Given the description of an element on the screen output the (x, y) to click on. 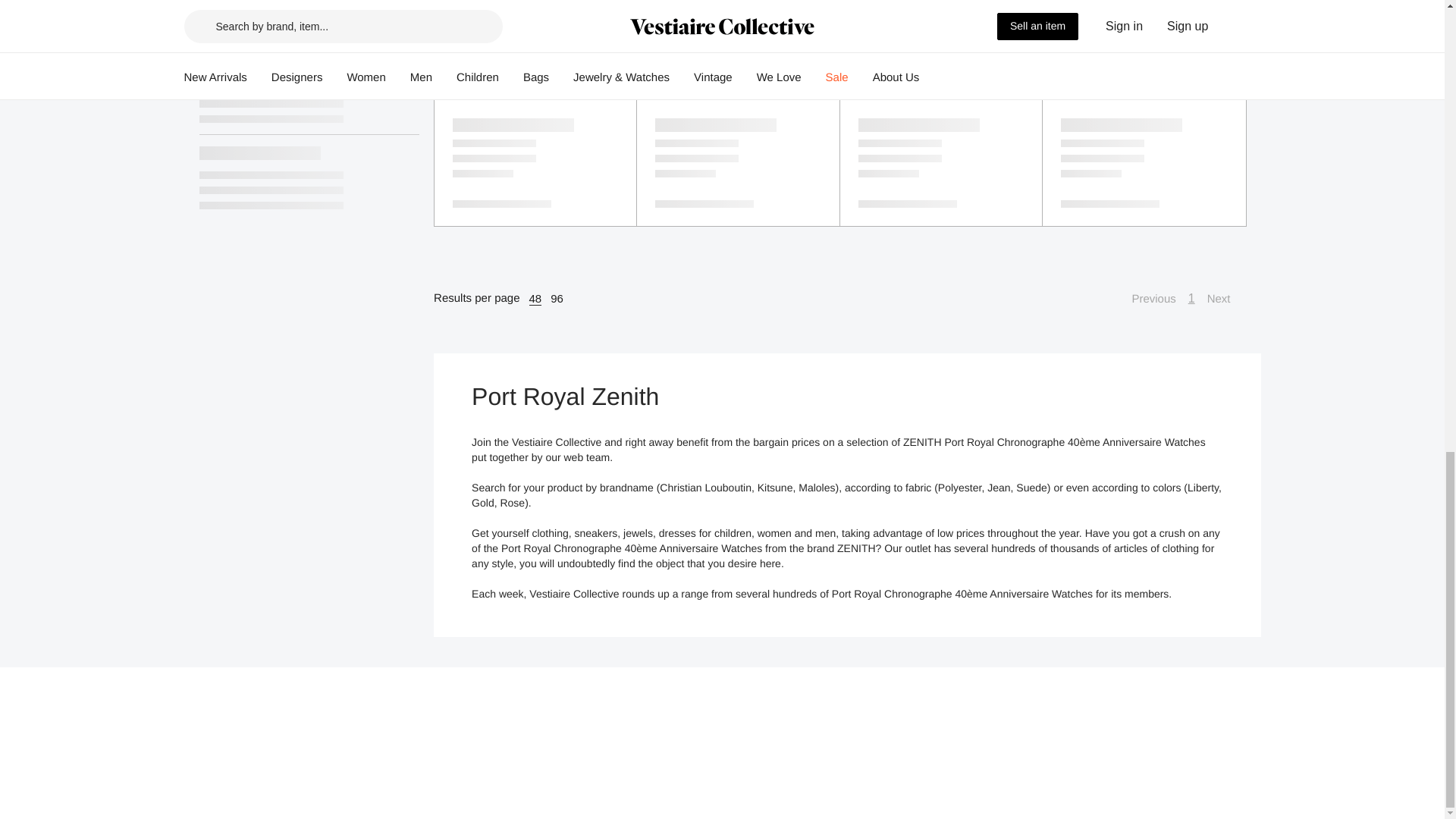
48 (535, 298)
Next (1226, 298)
Previous (1145, 298)
96 (556, 298)
